Given the description of an element on the screen output the (x, y) to click on. 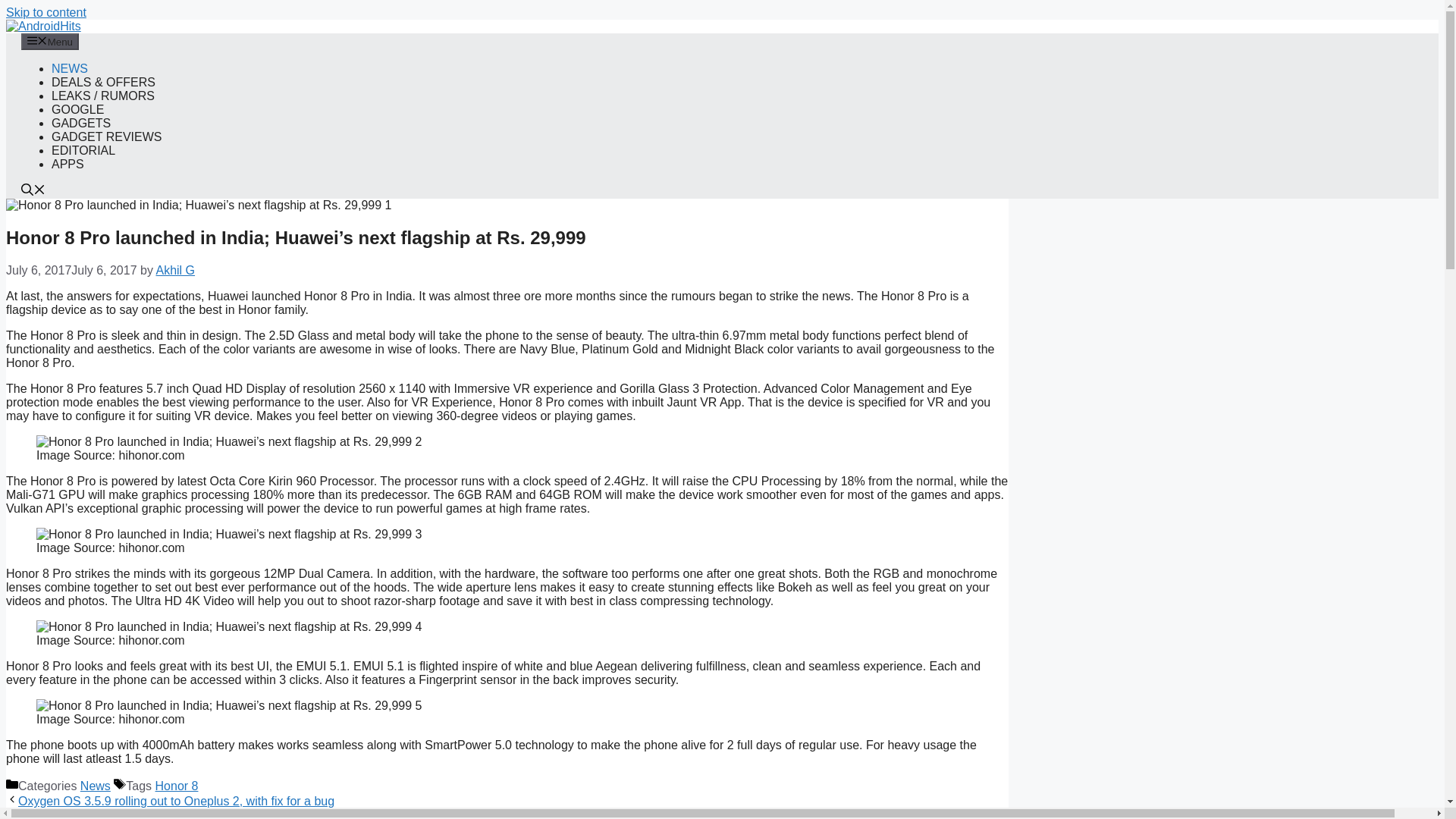
APPS (67, 164)
Skip to content (45, 11)
GADGETS (80, 123)
GADGET REVIEWS (105, 136)
EDITORIAL (82, 150)
NEWS (68, 68)
Akhil G (175, 269)
Menu (49, 41)
Oxygen OS 3.5.9 rolling out to Oneplus 2, with fix for a bug (175, 800)
News (95, 785)
